Given the description of an element on the screen output the (x, y) to click on. 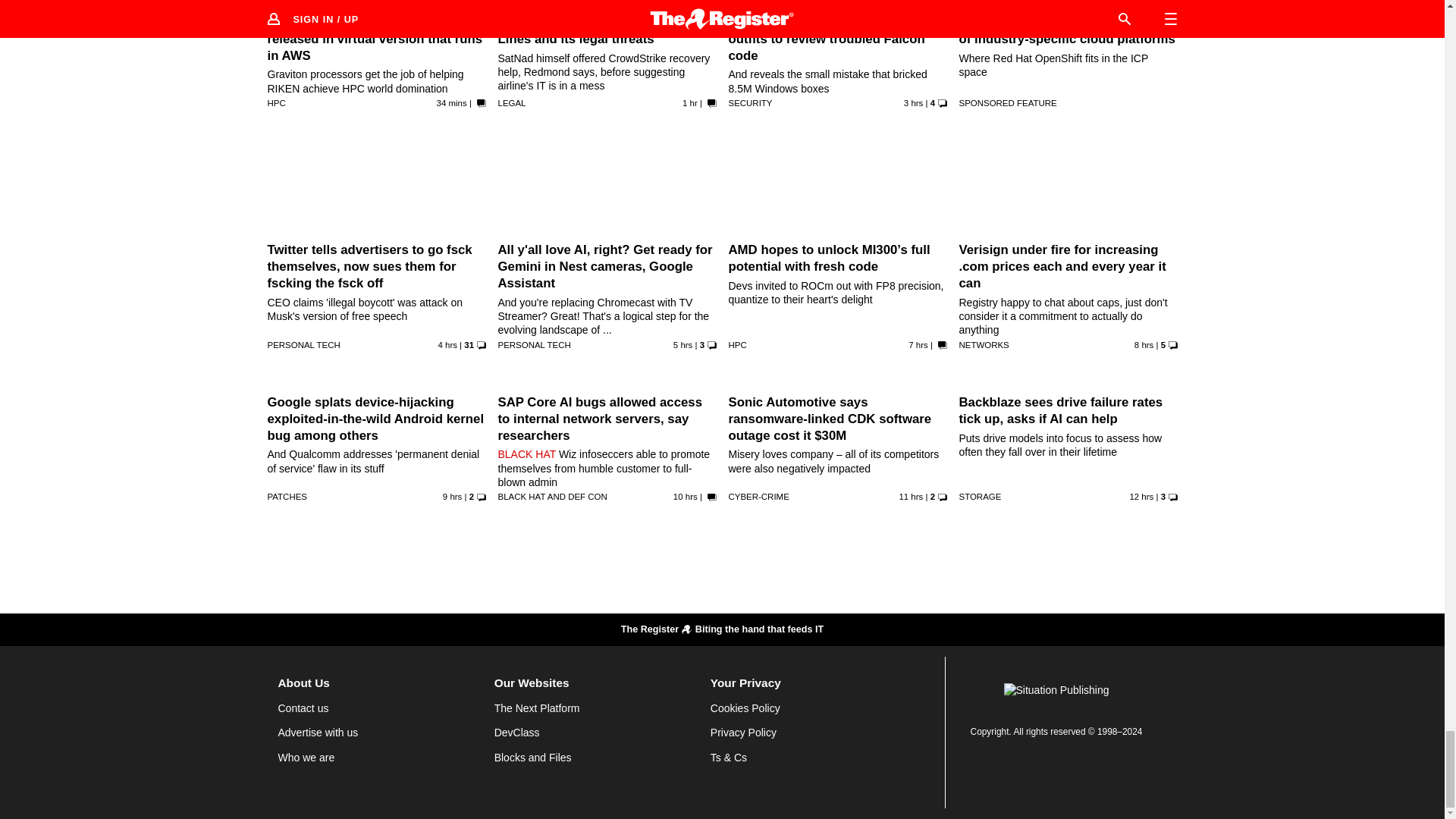
6 Aug 2024 15:25 (1141, 496)
6 Aug 2024 22:13 (682, 344)
6 Aug 2024 18:23 (452, 496)
6 Aug 2024 20:42 (918, 344)
7 Aug 2024 2:58 (451, 102)
6 Aug 2024 17:32 (684, 496)
7 Aug 2024 0:18 (913, 102)
6 Aug 2024 23:9 (447, 344)
6 Aug 2024 16:42 (910, 496)
6 Aug 2024 19:20 (1144, 344)
